Given the description of an element on the screen output the (x, y) to click on. 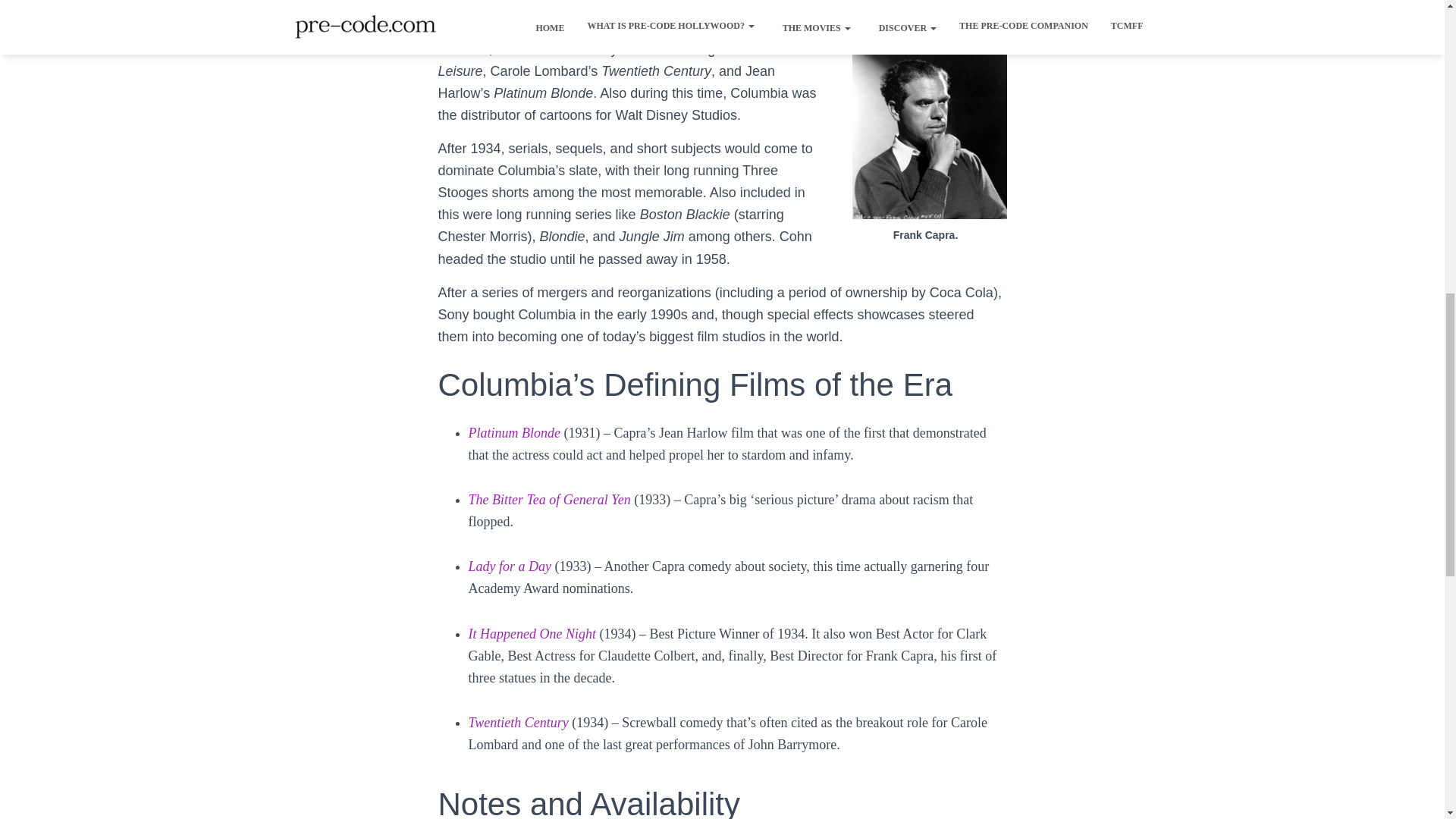
Twentieth Century (520, 722)
Lady for a Day (509, 566)
The Bitter Tea of General Yen (549, 499)
Platinum Blonde (514, 432)
It Happened One Night (533, 633)
